Given the description of an element on the screen output the (x, y) to click on. 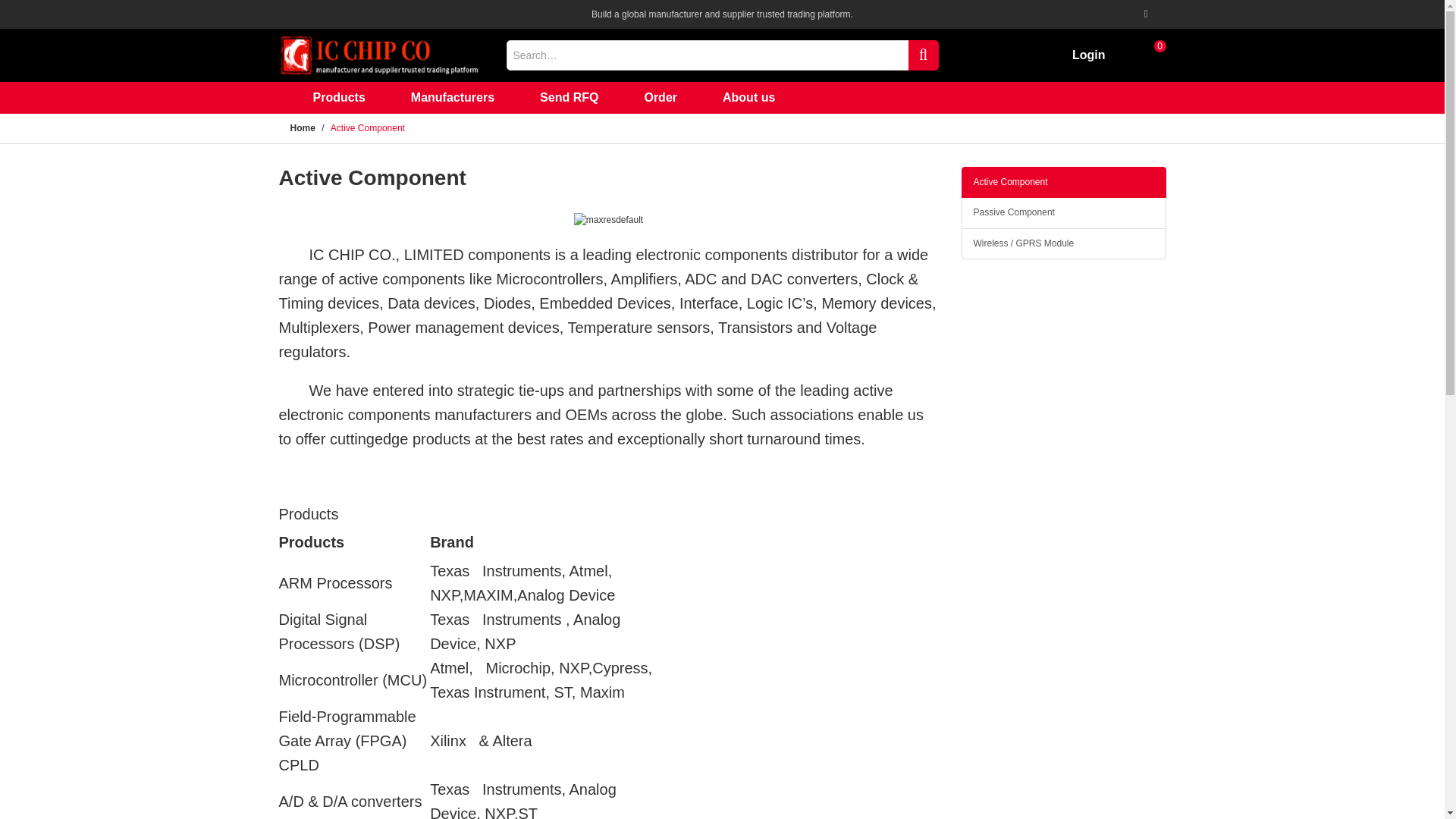
Manufacturers Element type: text (452, 97)
Products Element type: text (338, 97)
Wireless / GPRS Module Element type: text (1063, 243)
3b9b13342ceae3cec2bfa4787d2ff635.jpg Element type: hover (608, 220)
0 Element type: text (1150, 55)
Order Element type: text (660, 97)
Login Element type: text (1088, 55)
About us Element type: text (748, 97)
Home Element type: text (301, 127)
Active Component Element type: text (1063, 181)
Passive Component Element type: text (1063, 212)
Send RFQ Element type: text (569, 97)
